Given the description of an element on the screen output the (x, y) to click on. 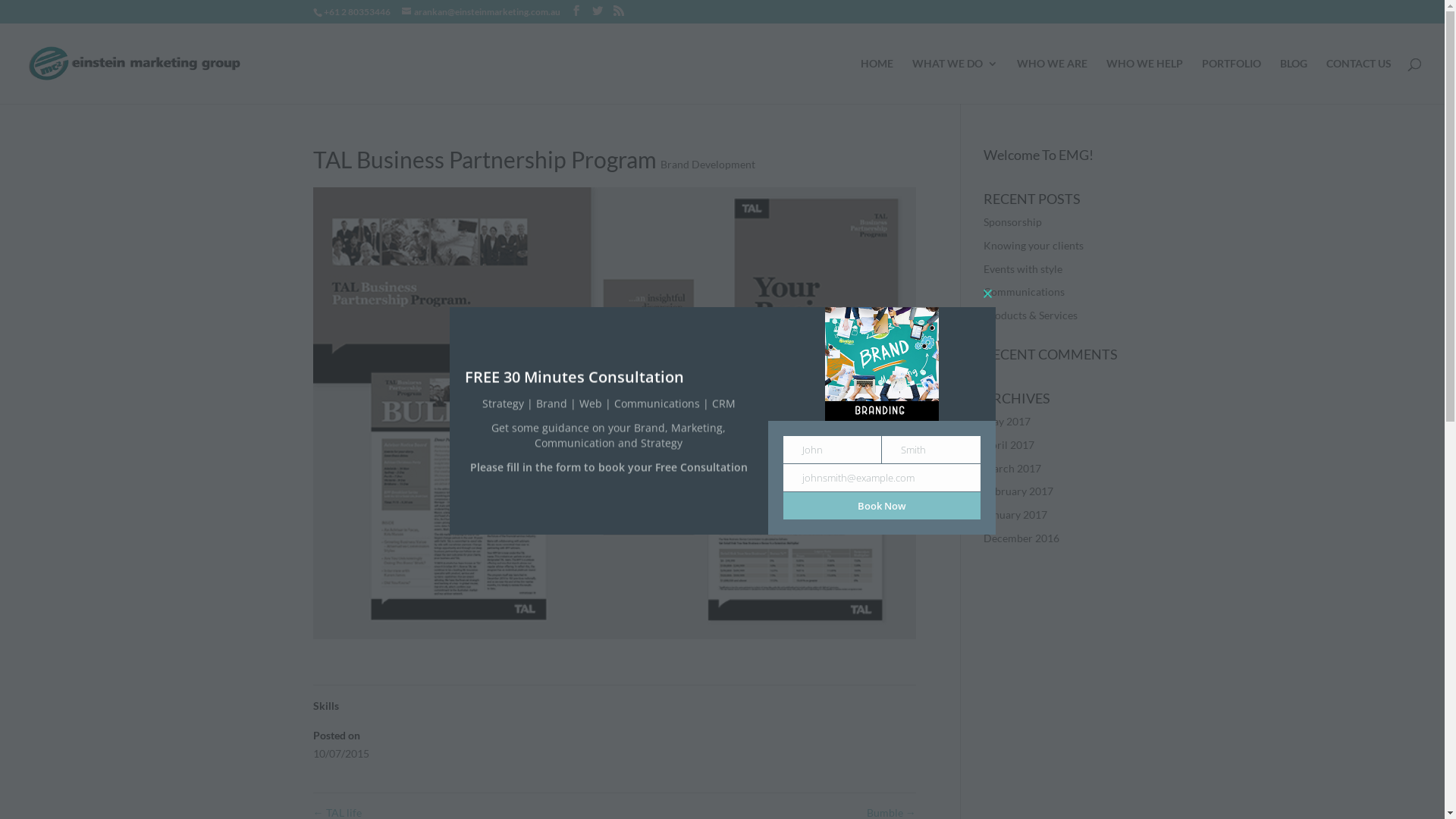
Products & Services Element type: text (1030, 314)
CONTACT US Element type: text (1358, 80)
March 2017 Element type: text (1012, 467)
May 2017 Element type: text (1006, 420)
Brand Development Element type: text (706, 163)
January 2017 Element type: text (1015, 514)
Sponsorship Element type: text (1012, 221)
PORTFOLIO Element type: text (1231, 80)
Communications Element type: text (1023, 291)
WHAT WE DO Element type: text (954, 80)
December 2016 Element type: text (1021, 537)
HOME Element type: text (876, 80)
Book Now Element type: text (880, 505)
Knowing your clients Element type: text (1033, 244)
WHO WE ARE Element type: text (1051, 80)
BLOG Element type: text (1293, 80)
April 2017 Element type: text (1008, 444)
arankan@einsteinmarketing.com.au Element type: text (480, 11)
WHO WE HELP Element type: text (1144, 80)
February 2017 Element type: text (1018, 490)
Events with style Element type: text (1022, 268)
